Given the description of an element on the screen output the (x, y) to click on. 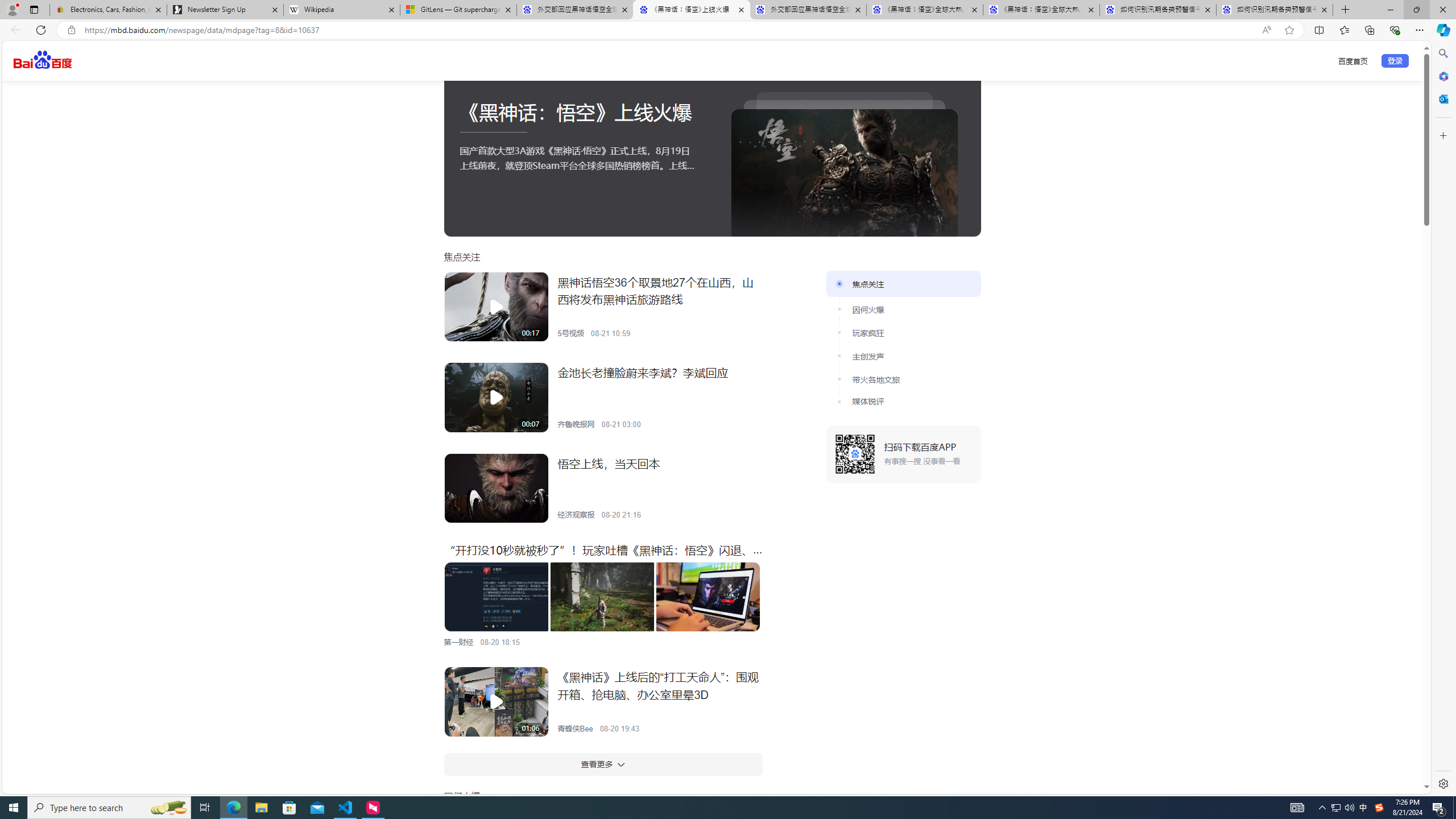
Class: w-icon (620, 764)
